Given the description of an element on the screen output the (x, y) to click on. 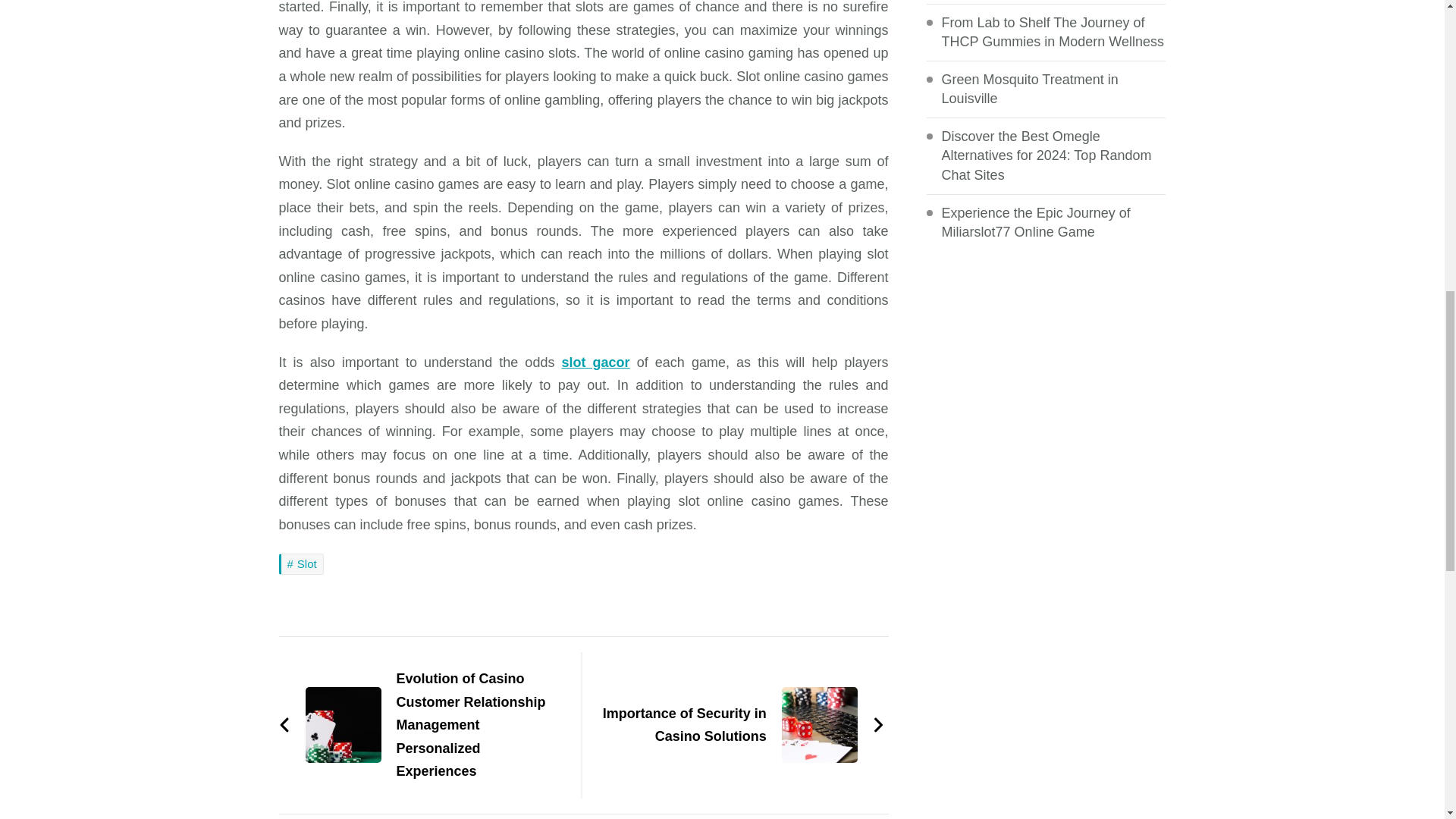
slot gacor (594, 362)
Importance of Security in Casino Solutions (740, 724)
Slot (301, 563)
